Given the description of an element on the screen output the (x, y) to click on. 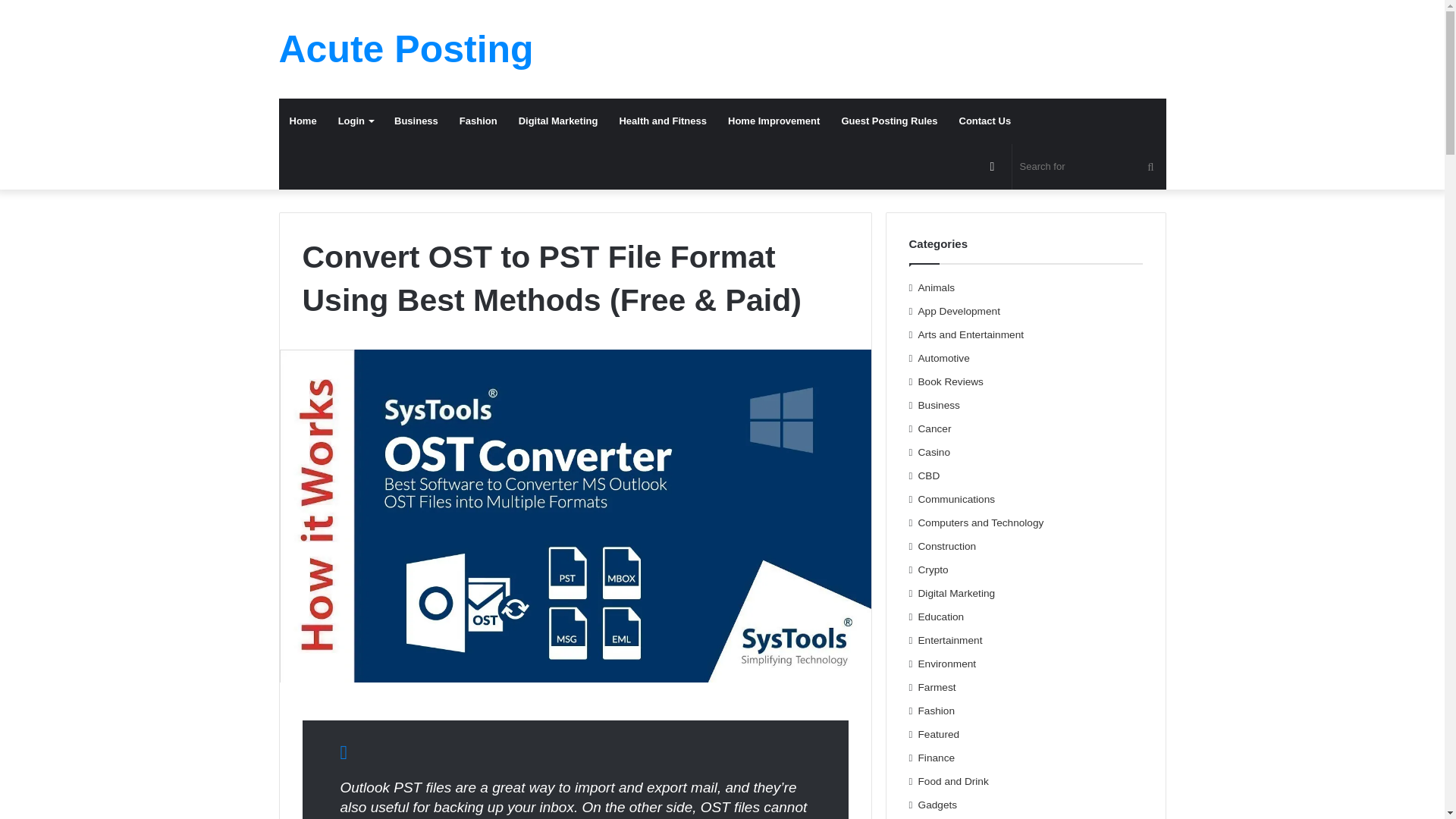
Farmest (937, 687)
Animals (936, 287)
Crypto (933, 569)
CBD (929, 475)
Login (355, 121)
Book Reviews (951, 381)
Home Improvement (773, 121)
Cancer (935, 428)
Casino (934, 452)
Guest Posting Rules (888, 121)
